Given the description of an element on the screen output the (x, y) to click on. 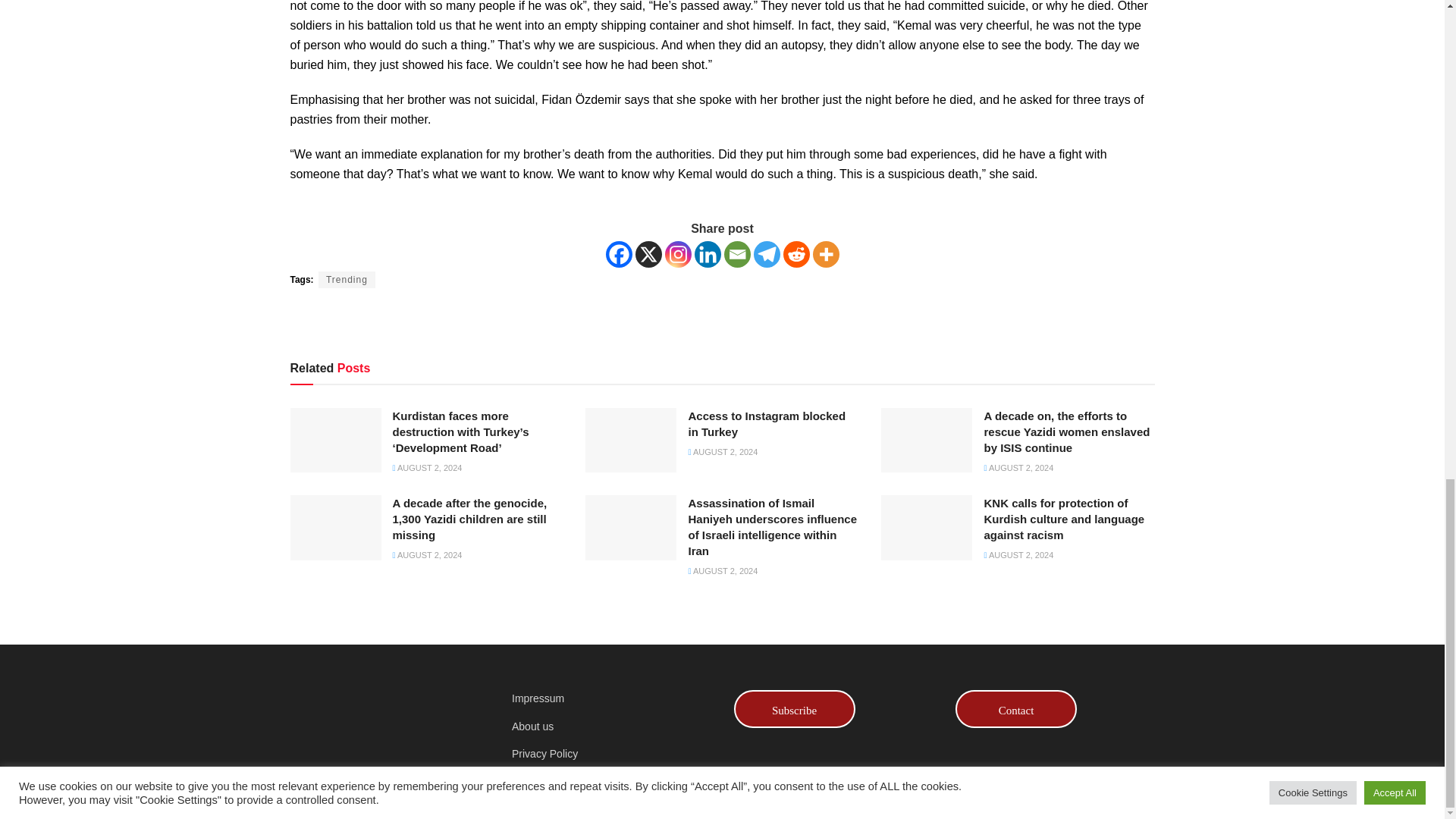
Facebook (618, 253)
X (648, 253)
Telegram (767, 253)
Linkedin (707, 253)
Instagram (676, 253)
Email (736, 253)
